Given the description of an element on the screen output the (x, y) to click on. 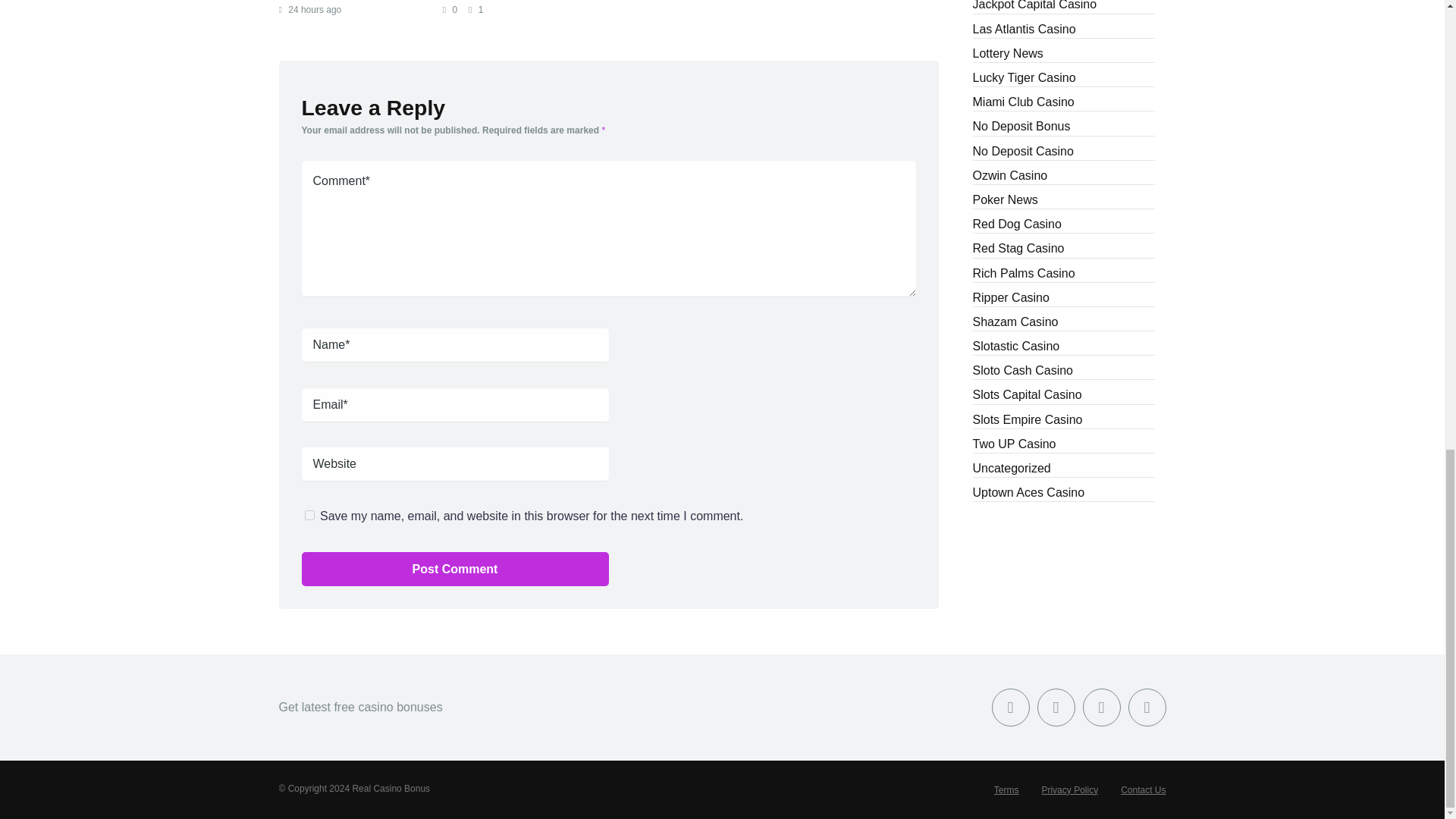
Post Comment (454, 568)
YouTube (1102, 706)
Twitter (1055, 706)
Post Comment (454, 568)
Facebook (1010, 706)
Reddit (1147, 706)
yes (309, 515)
